Given the description of an element on the screen output the (x, y) to click on. 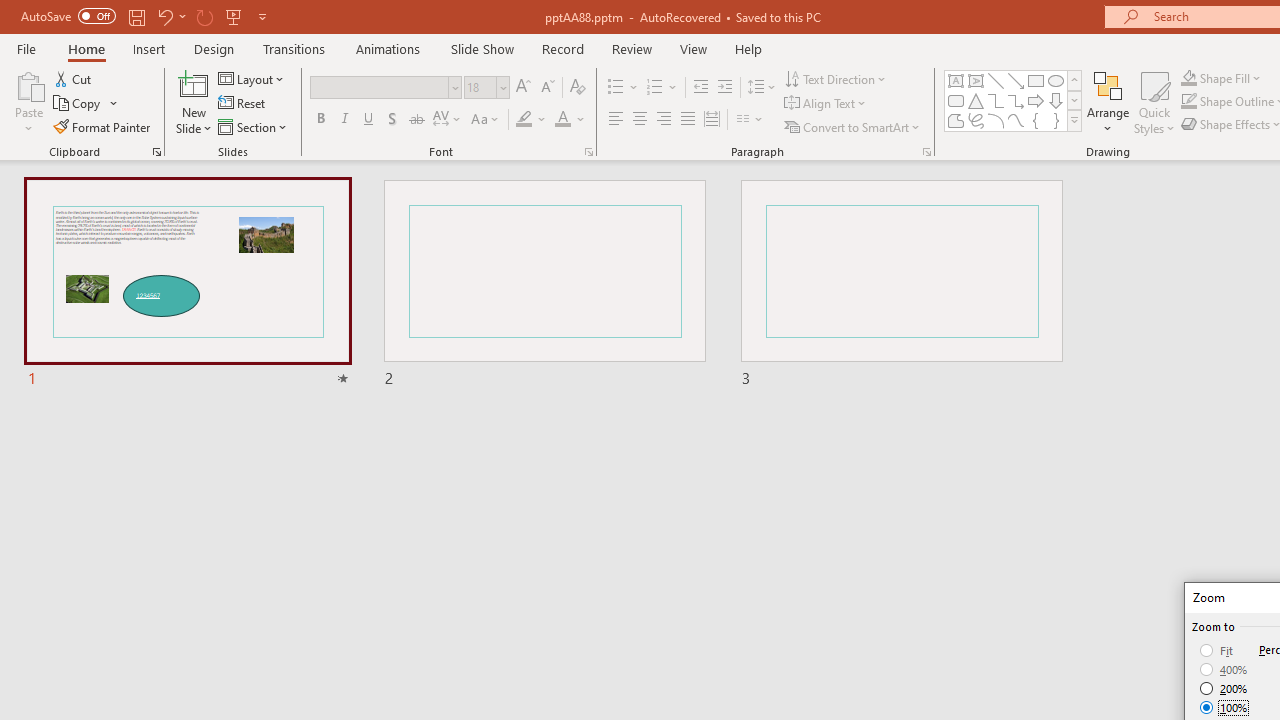
Shape Outline Teal, Accent 1 (1188, 101)
Fit (1217, 650)
